Given the description of an element on the screen output the (x, y) to click on. 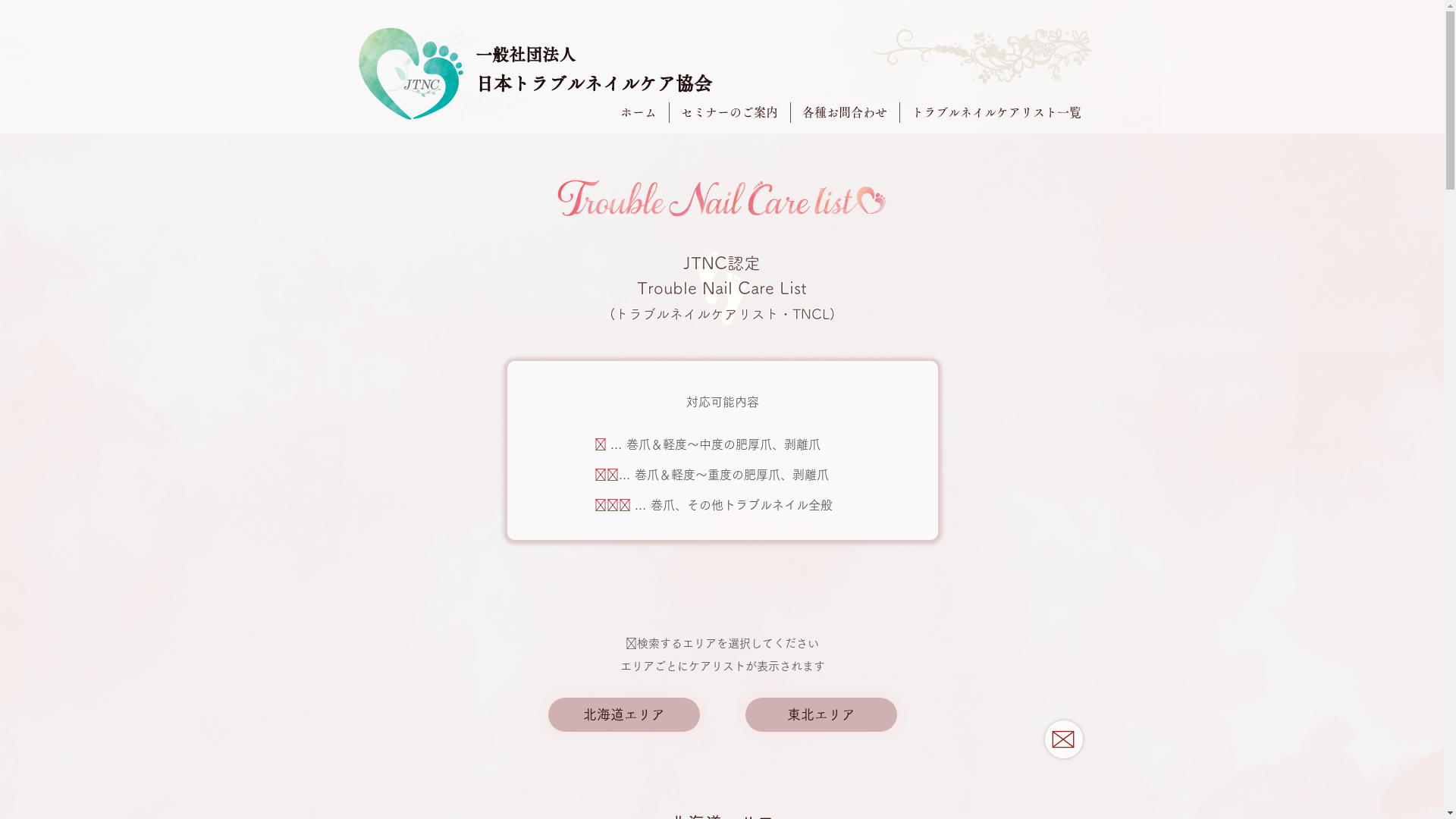
MinamoNail JTNC_LOGO_11markmain.png Element type: hover (410, 73)
Trouble Nail Care list_LOGO_01typemain.p Element type: hover (720, 198)
soushoku03_edited.png Element type: hover (982, 55)
soushoku01.png Element type: hover (502, 105)
foot_edited_edited_edited_edited.png Element type: hover (721, 287)
soushoku04.png Element type: hover (456, 42)
